Given the description of an element on the screen output the (x, y) to click on. 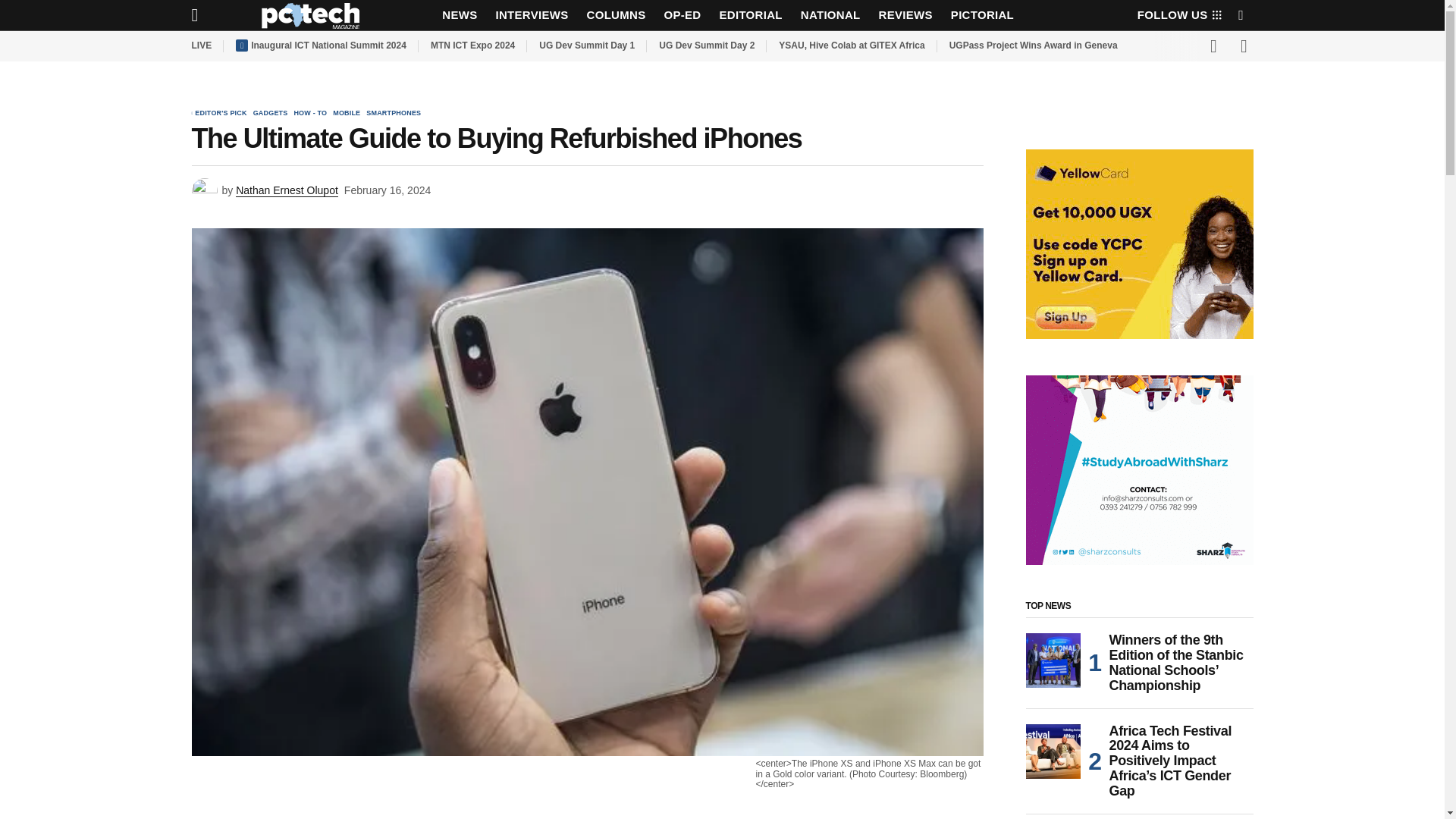
COLUMNS (616, 15)
INTERVIEWS (531, 15)
NEWS (459, 15)
